Given the description of an element on the screen output the (x, y) to click on. 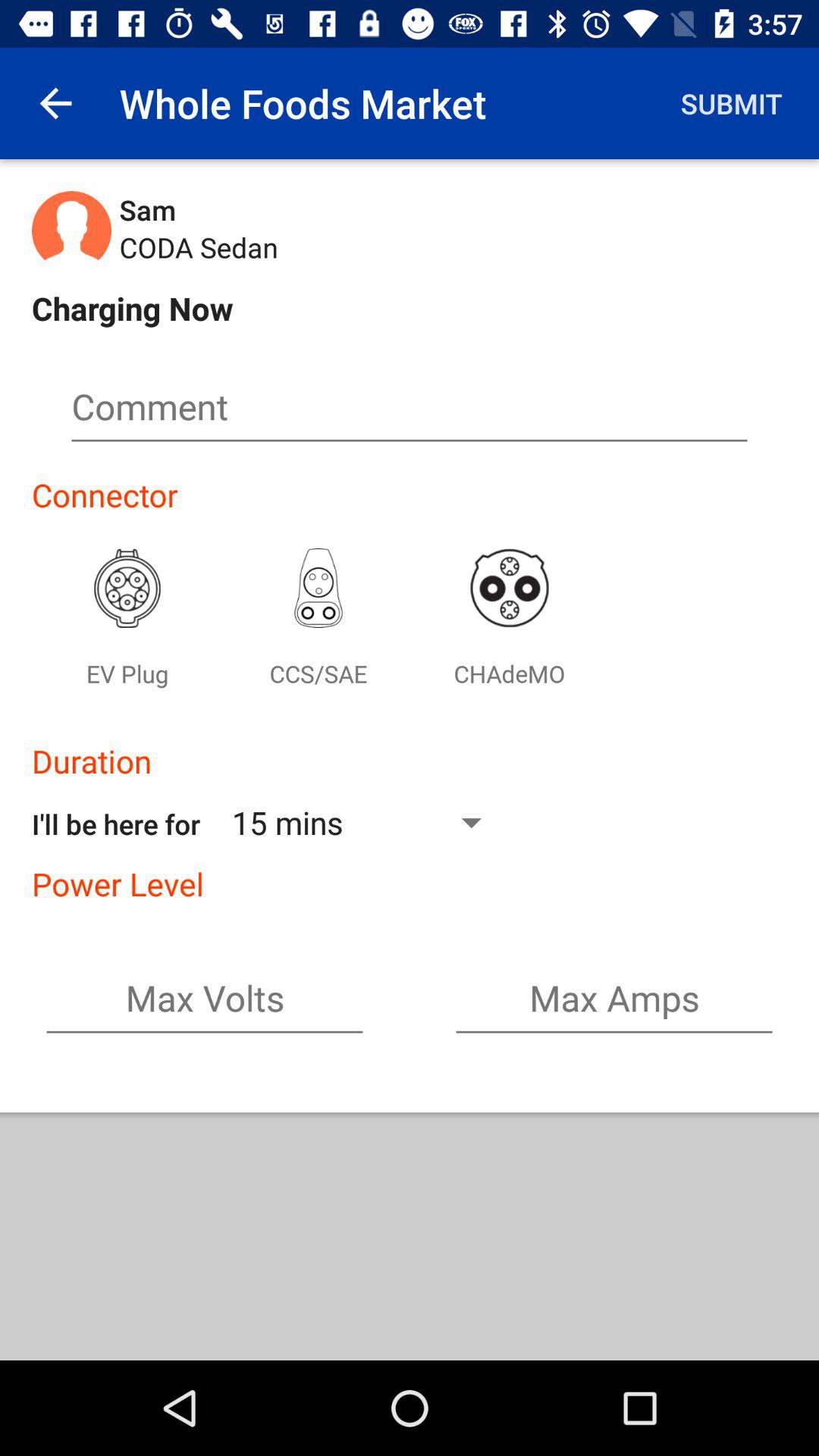
go to back (55, 103)
